Given the description of an element on the screen output the (x, y) to click on. 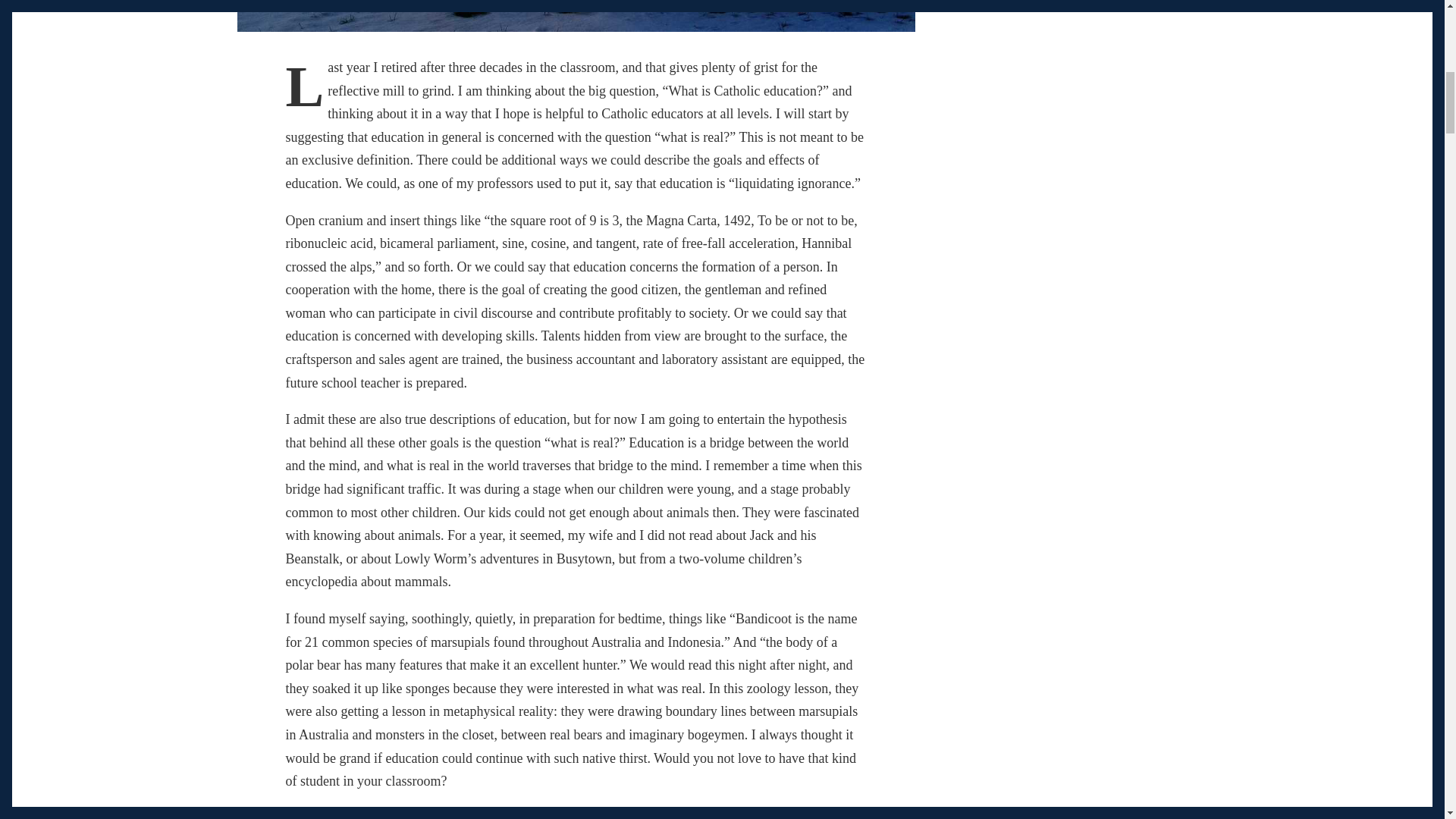
Chesterton (314, 814)
